Given the description of an element on the screen output the (x, y) to click on. 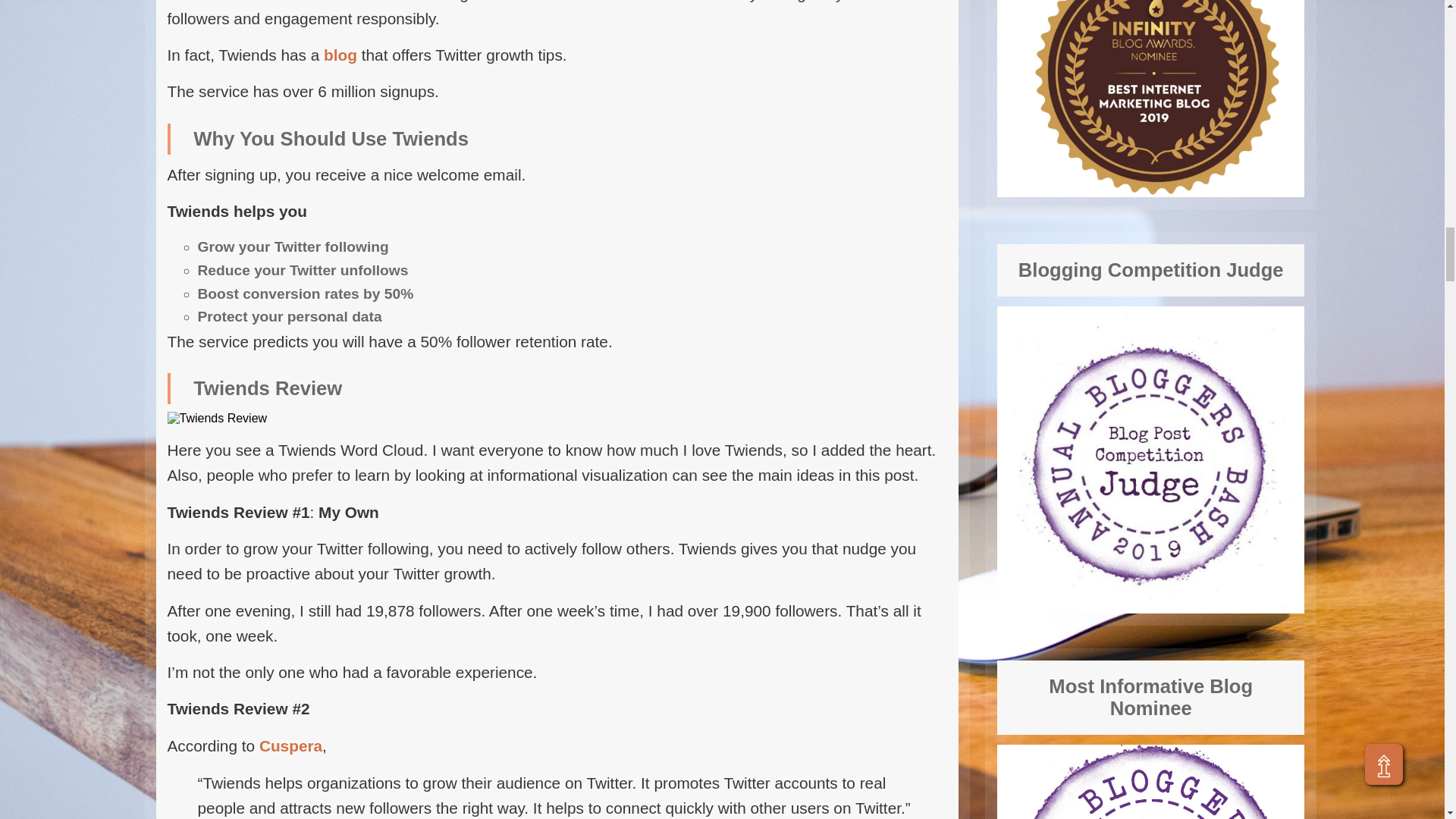
Best Marketing Blog Nominee (1150, 98)
